Given the description of an element on the screen output the (x, y) to click on. 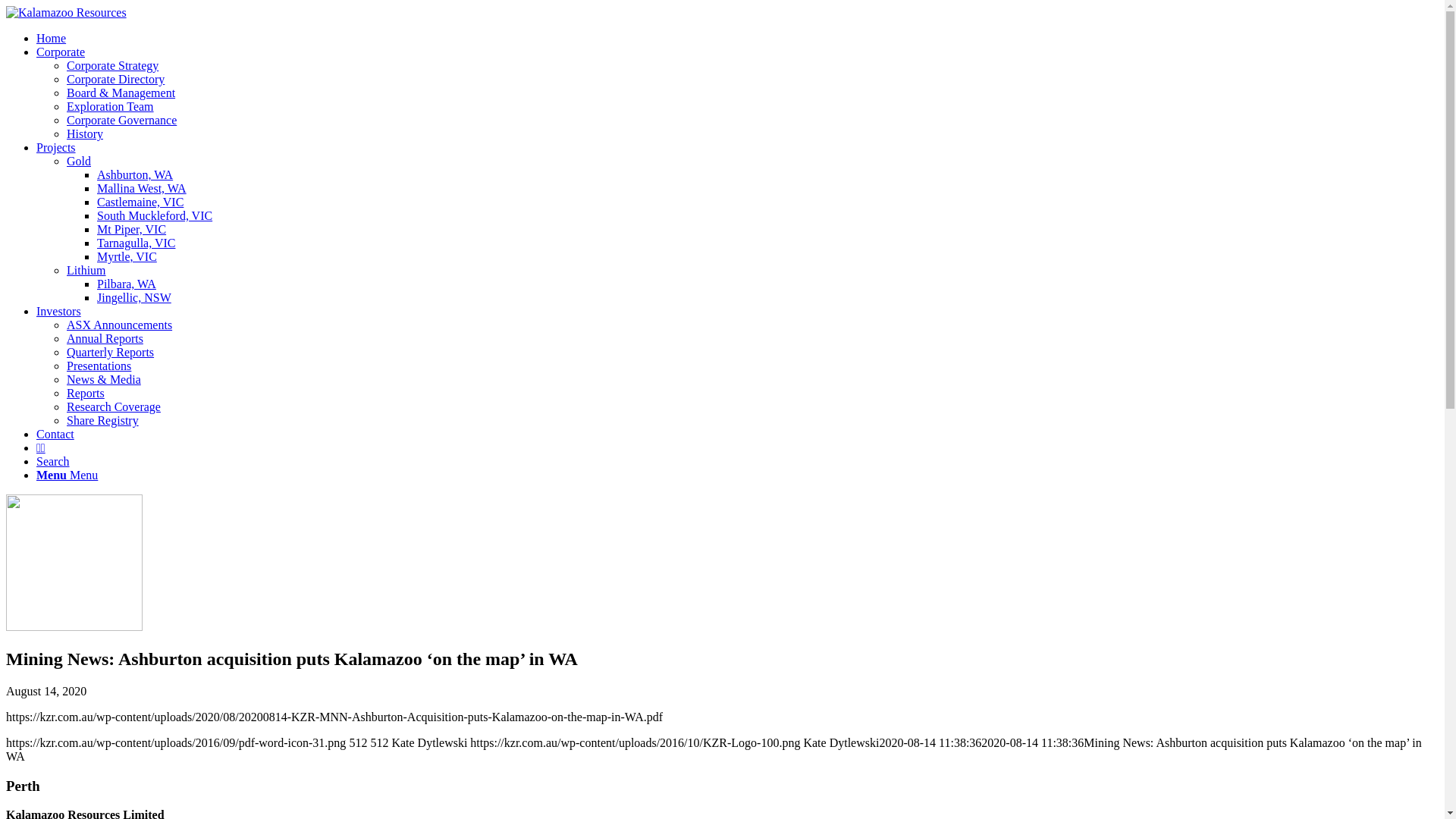
Corporate Directory Element type: text (115, 78)
Myrtle, VIC Element type: text (126, 256)
ASX Announcements Element type: text (119, 324)
Exploration Team Element type: text (109, 106)
Presentations Element type: text (98, 365)
Corporate Governance Element type: text (121, 119)
Search Element type: text (52, 461)
Gold Element type: text (78, 160)
Contact Element type: text (55, 433)
Investors Element type: text (58, 310)
Home Element type: text (50, 37)
South Muckleford, VIC Element type: text (154, 215)
kzr-logo-100 Element type: hover (66, 12)
Annual Reports Element type: text (104, 338)
Research Coverage Element type: text (113, 406)
Reports Element type: text (85, 392)
pdf-word-icon-31 Element type: hover (74, 626)
Pilbara, WA Element type: text (126, 283)
Tarnagulla, VIC Element type: text (136, 242)
Lithium Element type: text (86, 269)
Castlemaine, VIC Element type: text (140, 201)
History Element type: text (84, 133)
Jingellic, NSW Element type: text (134, 297)
Mallina West, WA Element type: text (141, 188)
Projects Element type: text (55, 147)
Board & Management Element type: text (120, 92)
Menu Menu Element type: text (66, 474)
Ashburton, WA Element type: text (134, 174)
Share Registry Element type: text (102, 420)
News & Media Element type: text (103, 379)
Corporate Strategy Element type: text (112, 65)
Corporate Element type: text (60, 51)
Quarterly Reports Element type: text (109, 351)
Mt Piper, VIC Element type: text (131, 228)
